Given the description of an element on the screen output the (x, y) to click on. 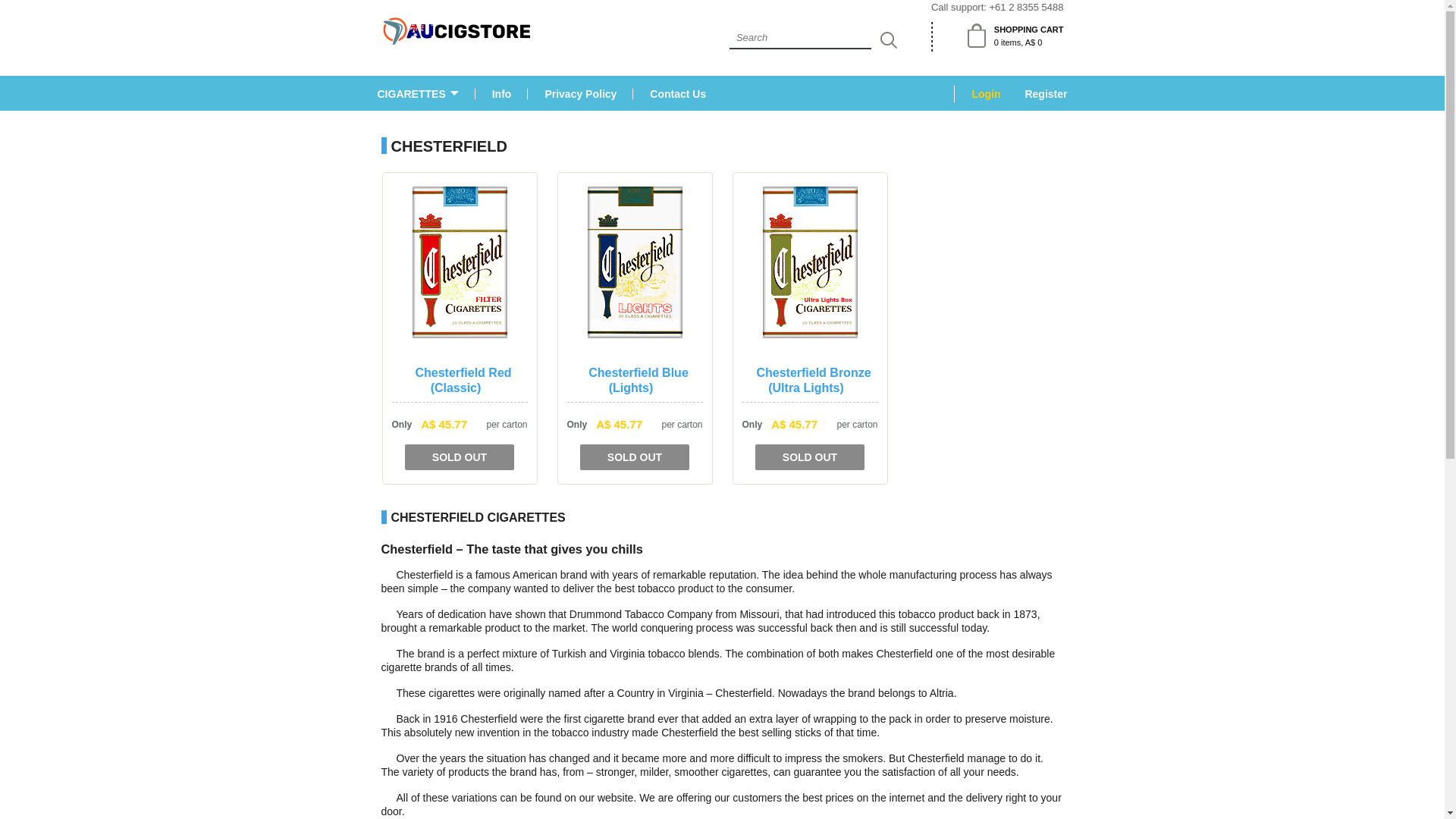
CIGARETTES (417, 93)
Call customer support (1027, 7)
